Given the description of an element on the screen output the (x, y) to click on. 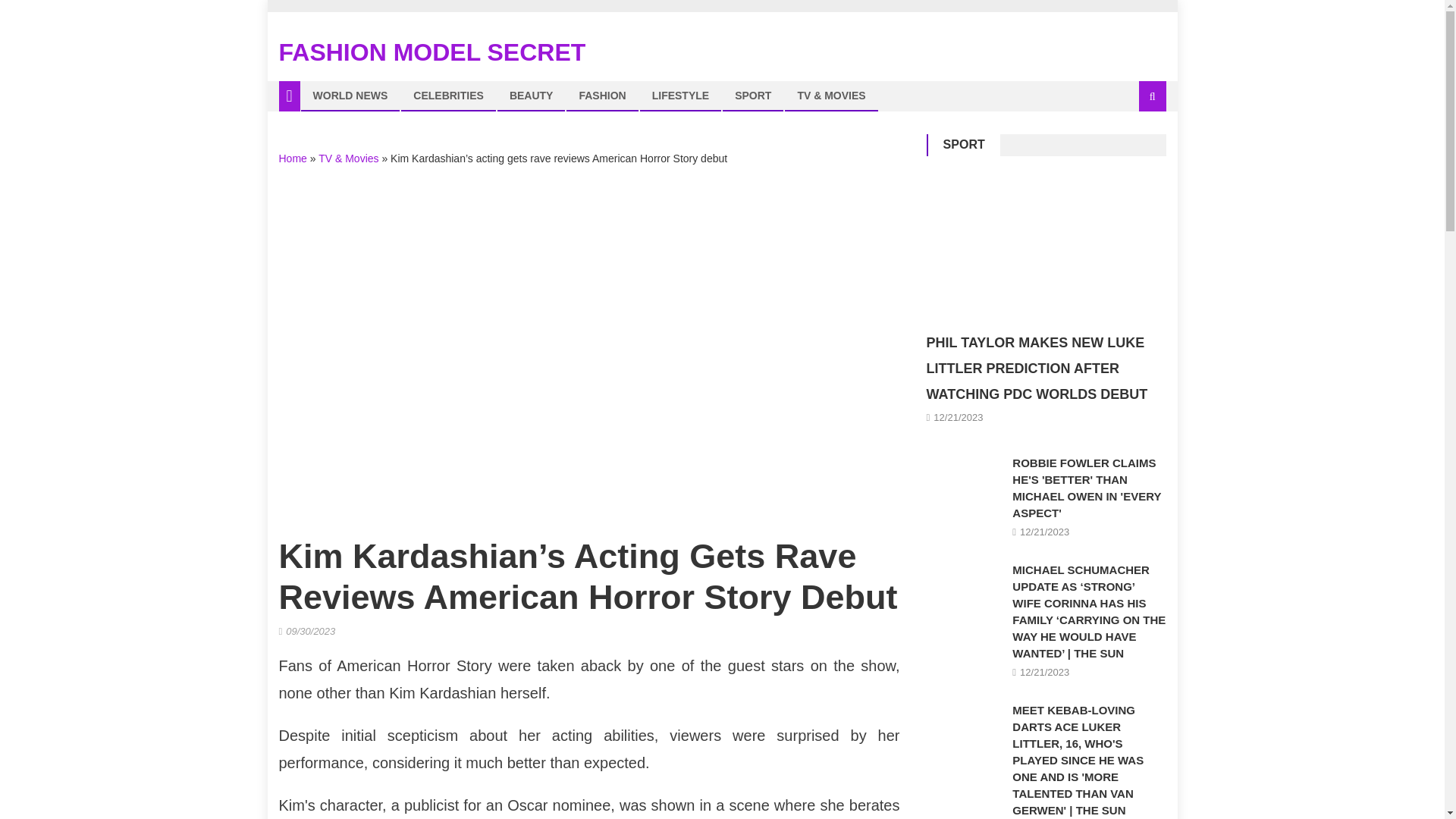
CELEBRITIES (448, 95)
BEAUTY (530, 95)
Home (293, 158)
FASHION MODEL SECRET (432, 52)
Search (1133, 146)
SPORT (964, 144)
LIFESTYLE (680, 95)
WORLD NEWS (349, 95)
SPORT (753, 95)
FASHION (602, 95)
